Given the description of an element on the screen output the (x, y) to click on. 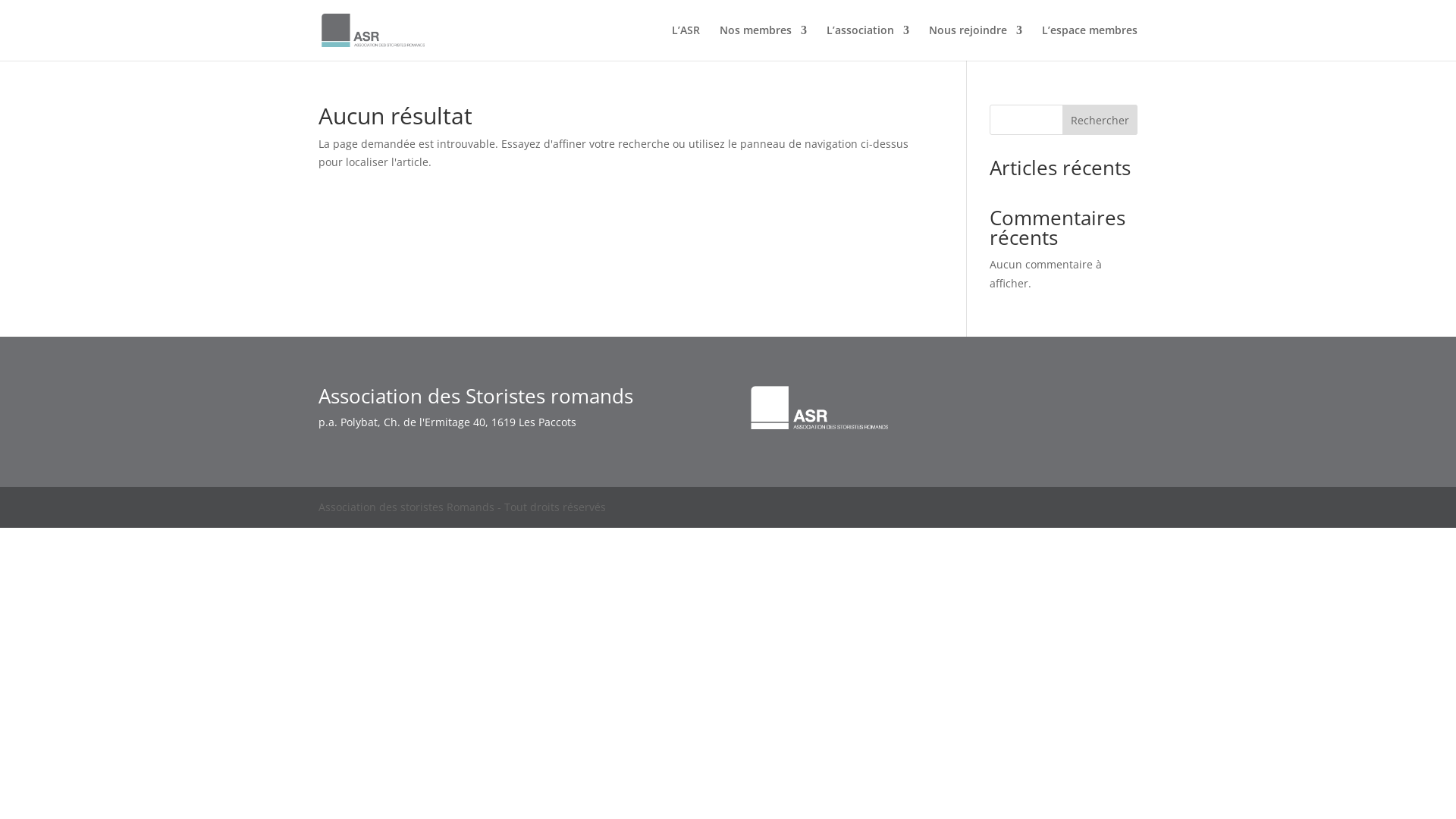
Nos membres Element type: text (762, 42)
Nous rejoindre Element type: text (975, 42)
Rechercher Element type: text (1099, 119)
